Given the description of an element on the screen output the (x, y) to click on. 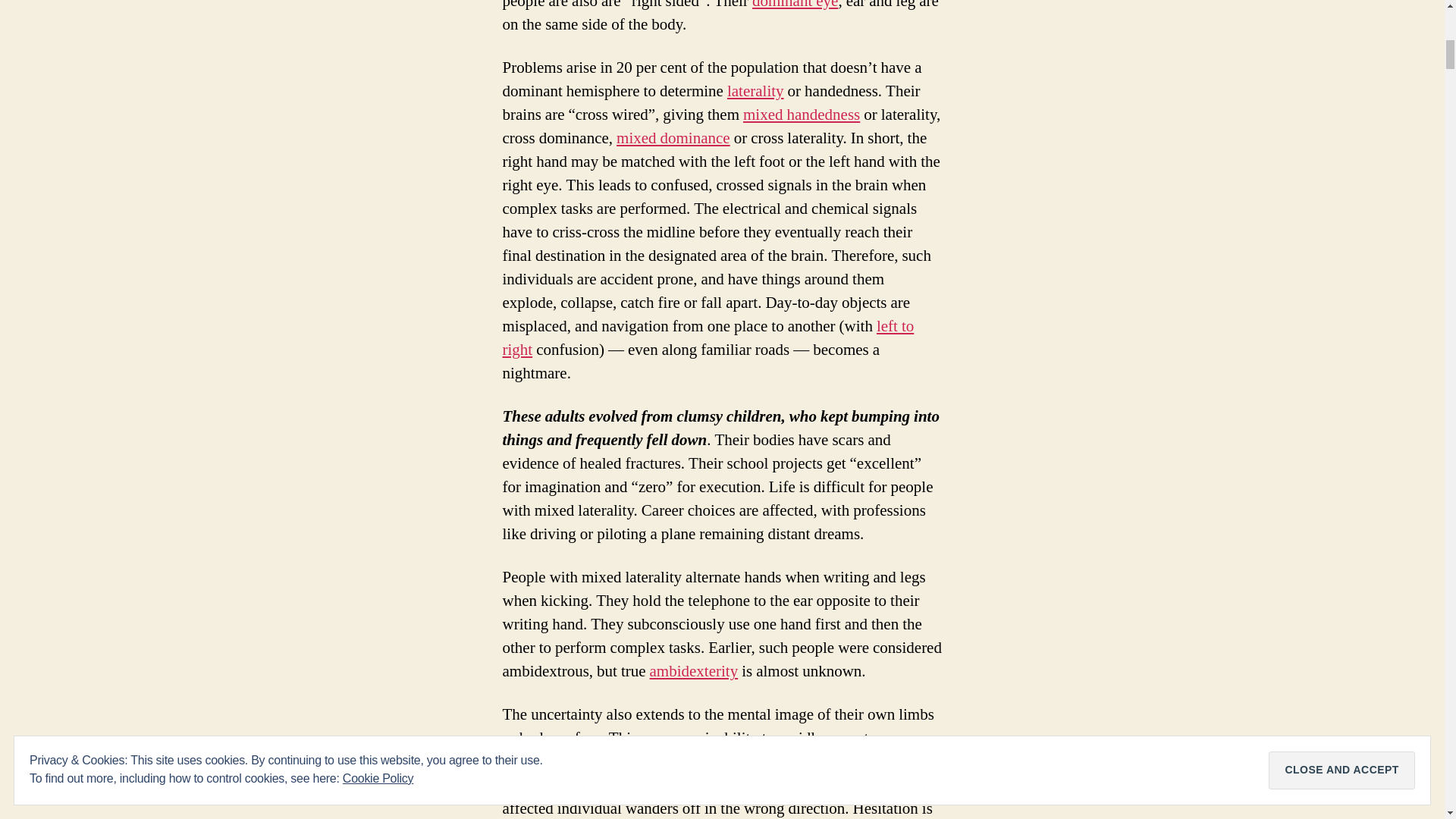
Ocular dominance (795, 5)
mixed dominance (672, 137)
left to right (708, 338)
Cross-dominance (801, 114)
Writing system (708, 338)
Ambidexterity (693, 670)
Cross-dominance (672, 137)
dominant eye (795, 5)
ambidexterity (693, 670)
Laterality (755, 91)
